Given the description of an element on the screen output the (x, y) to click on. 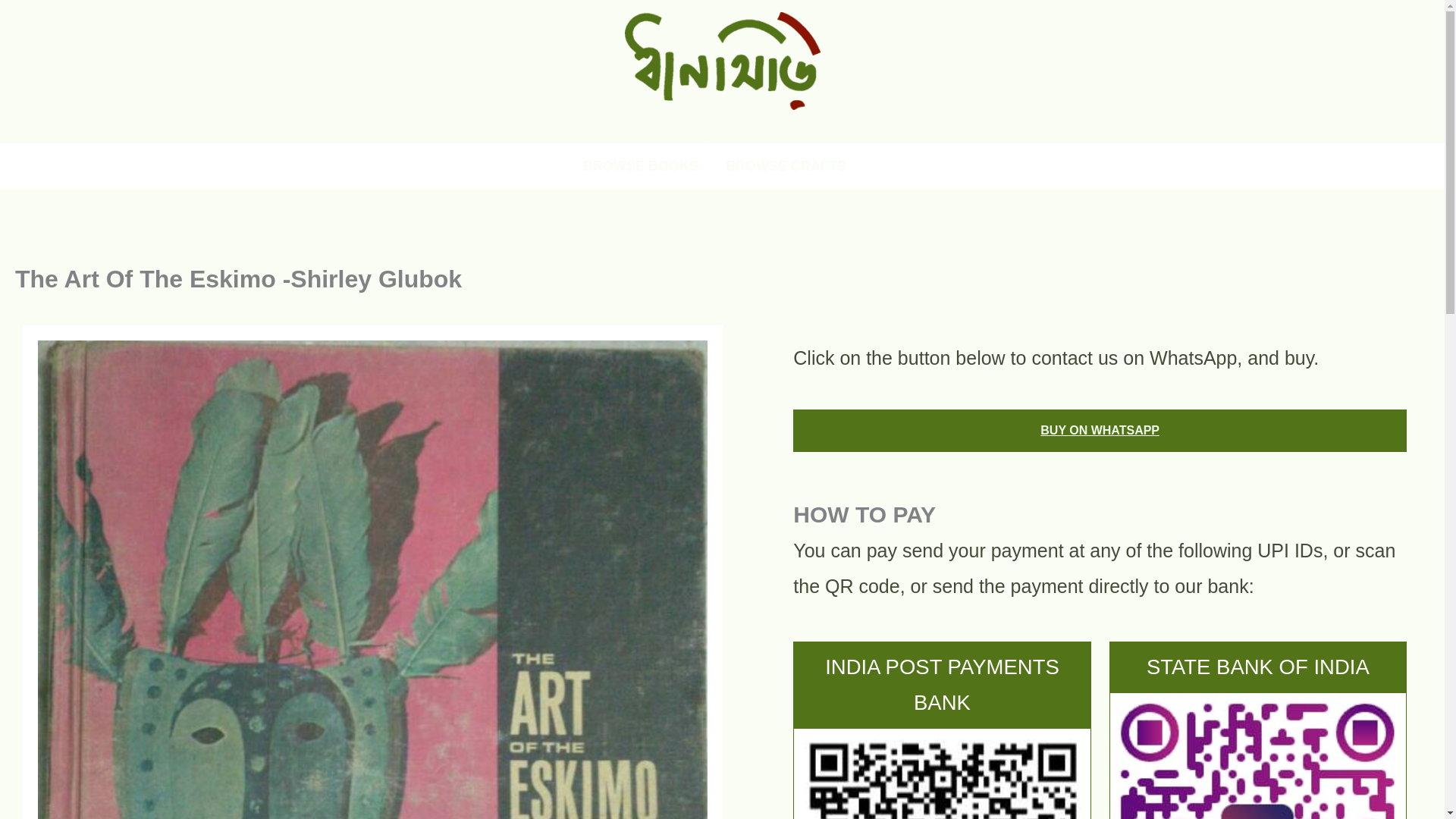
BROWSE BOOKS (640, 166)
BROWSE CRAFTS (785, 166)
Dhansiri (721, 120)
BUY ON WHATSAPP (1099, 430)
